Given the description of an element on the screen output the (x, y) to click on. 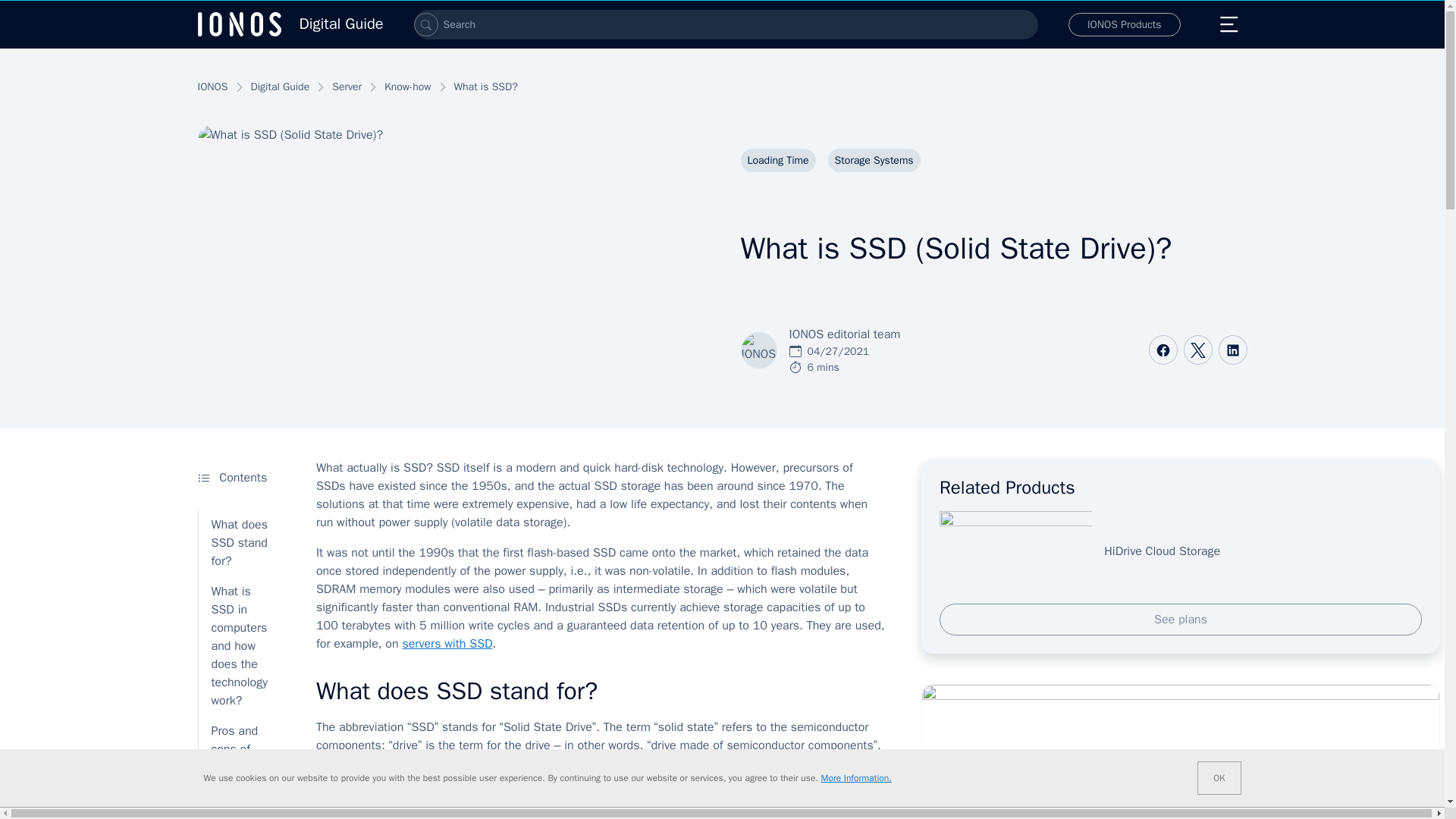
Digital Guide (289, 23)
Search (425, 24)
Digital Guide (289, 23)
IONOS Products (1124, 24)
